Given the description of an element on the screen output the (x, y) to click on. 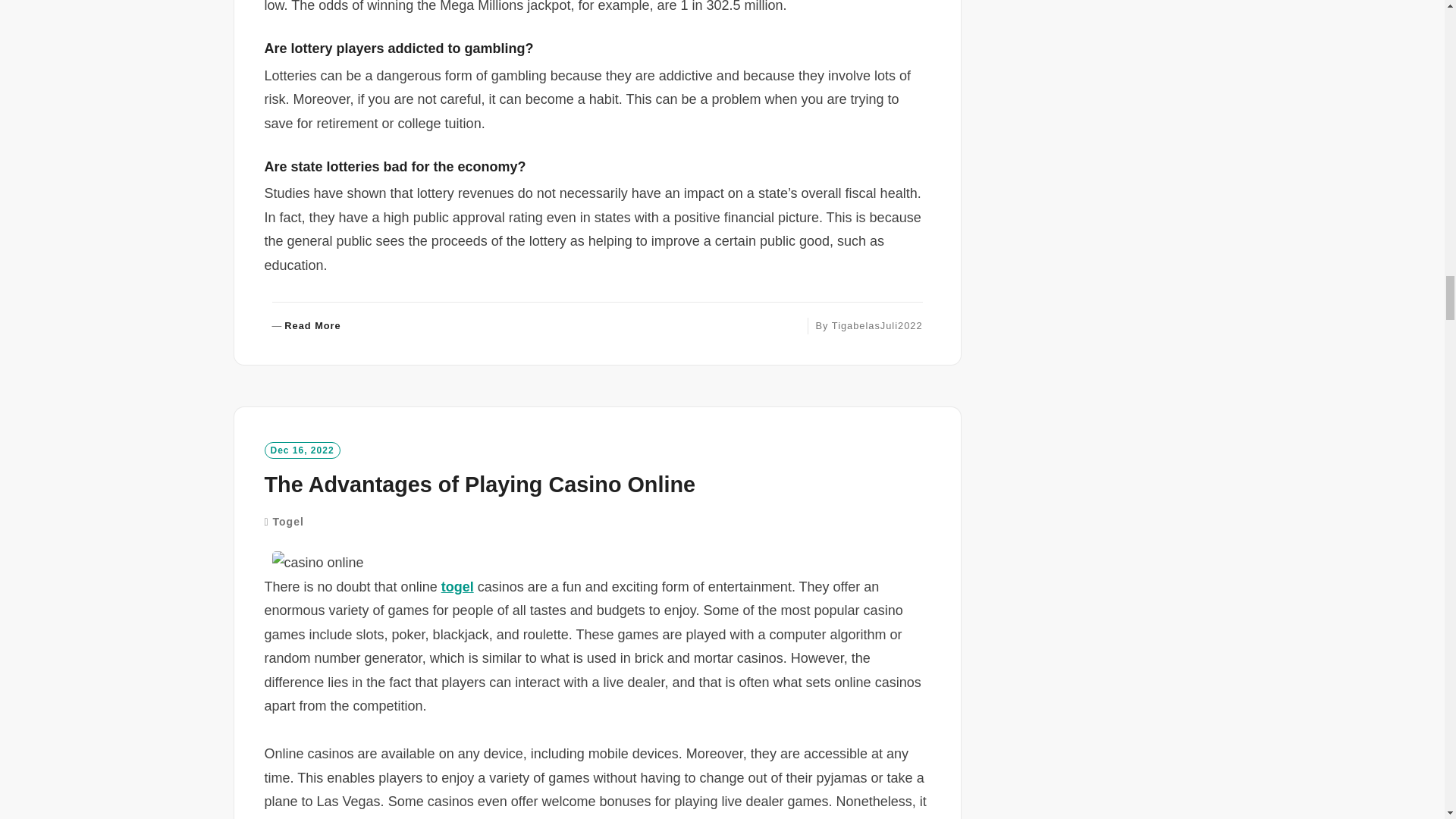
Togel (288, 521)
TigabelasJuli2022 (877, 325)
Dec 16, 2022 (301, 450)
The Advantages of Playing Casino Online (479, 484)
togel (305, 326)
